Given the description of an element on the screen output the (x, y) to click on. 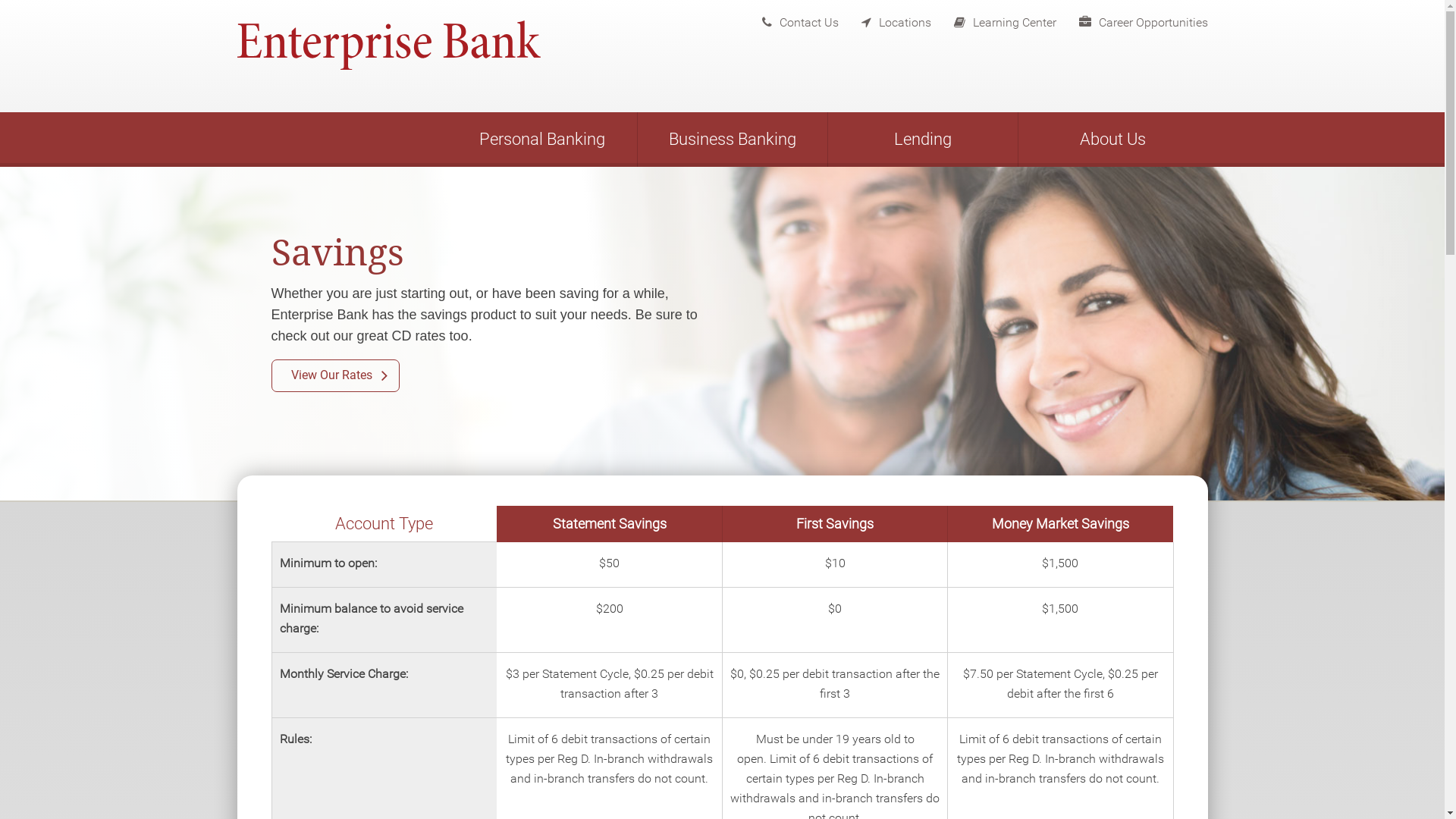
Locations Element type: text (884, 18)
Career Opportunities Element type: text (1131, 18)
Lending Element type: text (922, 139)
Personal Banking Element type: text (542, 139)
About Us Element type: text (1112, 139)
Contact Us Element type: text (787, 18)
Business Banking Element type: text (731, 139)
View Our Rates Element type: text (335, 375)
Learning Center Element type: text (993, 18)
